Given the description of an element on the screen output the (x, y) to click on. 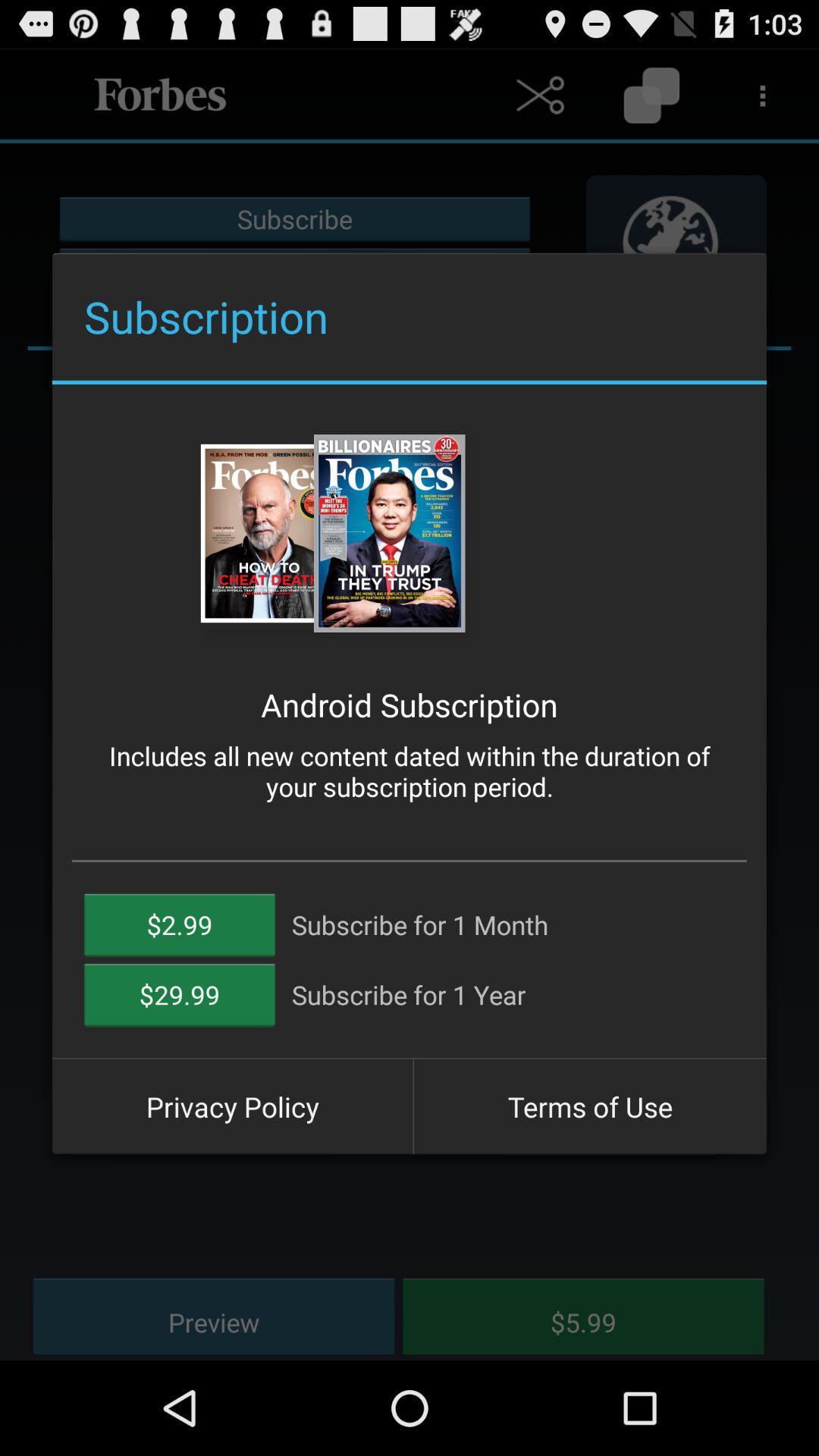
press button next to the privacy policy item (590, 1106)
